Given the description of an element on the screen output the (x, y) to click on. 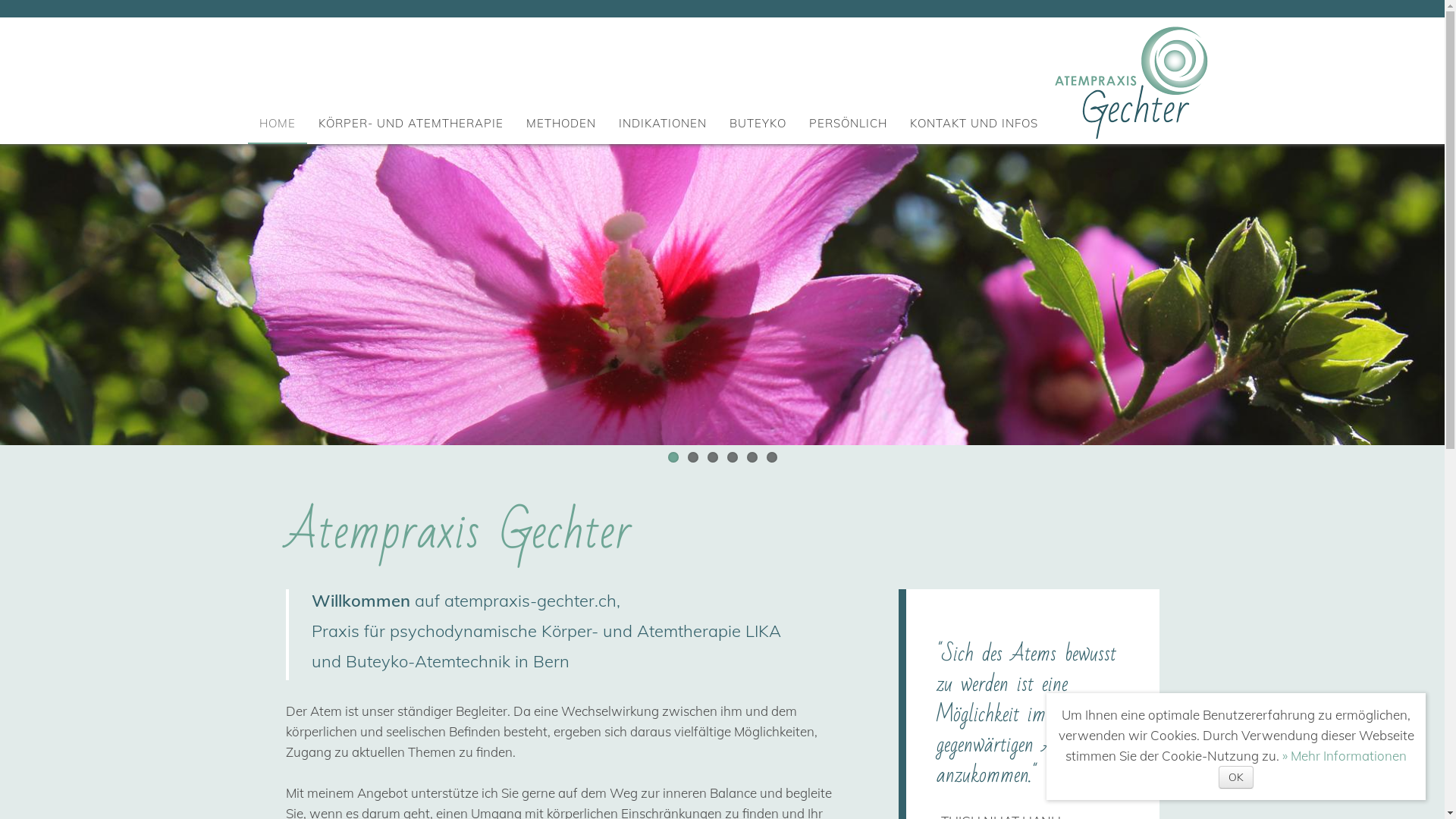
HOME Element type: text (277, 123)
KONTAKT UND INFOS Element type: text (974, 123)
3 Element type: text (711, 456)
1 Element type: text (672, 456)
BUTEYKO Element type: text (757, 123)
INDIKATIONEN Element type: text (662, 123)
METHODEN Element type: text (561, 123)
6 Element type: text (770, 456)
2 Element type: text (692, 456)
4 Element type: text (731, 456)
OK Element type: text (1235, 776)
5 Element type: text (751, 456)
